Given the description of an element on the screen output the (x, y) to click on. 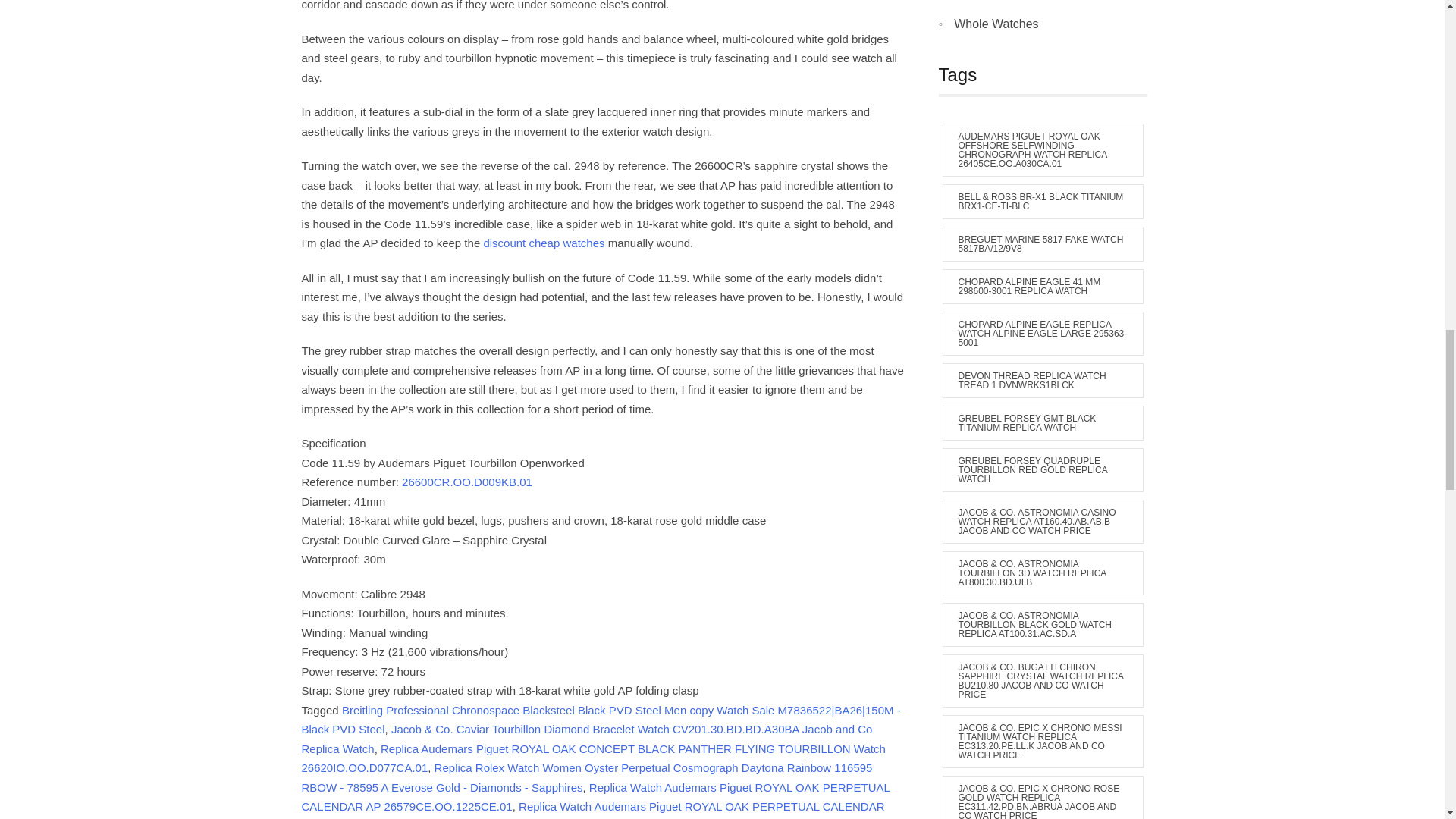
26600CR.OO.D009KB.01 (466, 481)
discount cheap watches (543, 242)
